Given the description of an element on the screen output the (x, y) to click on. 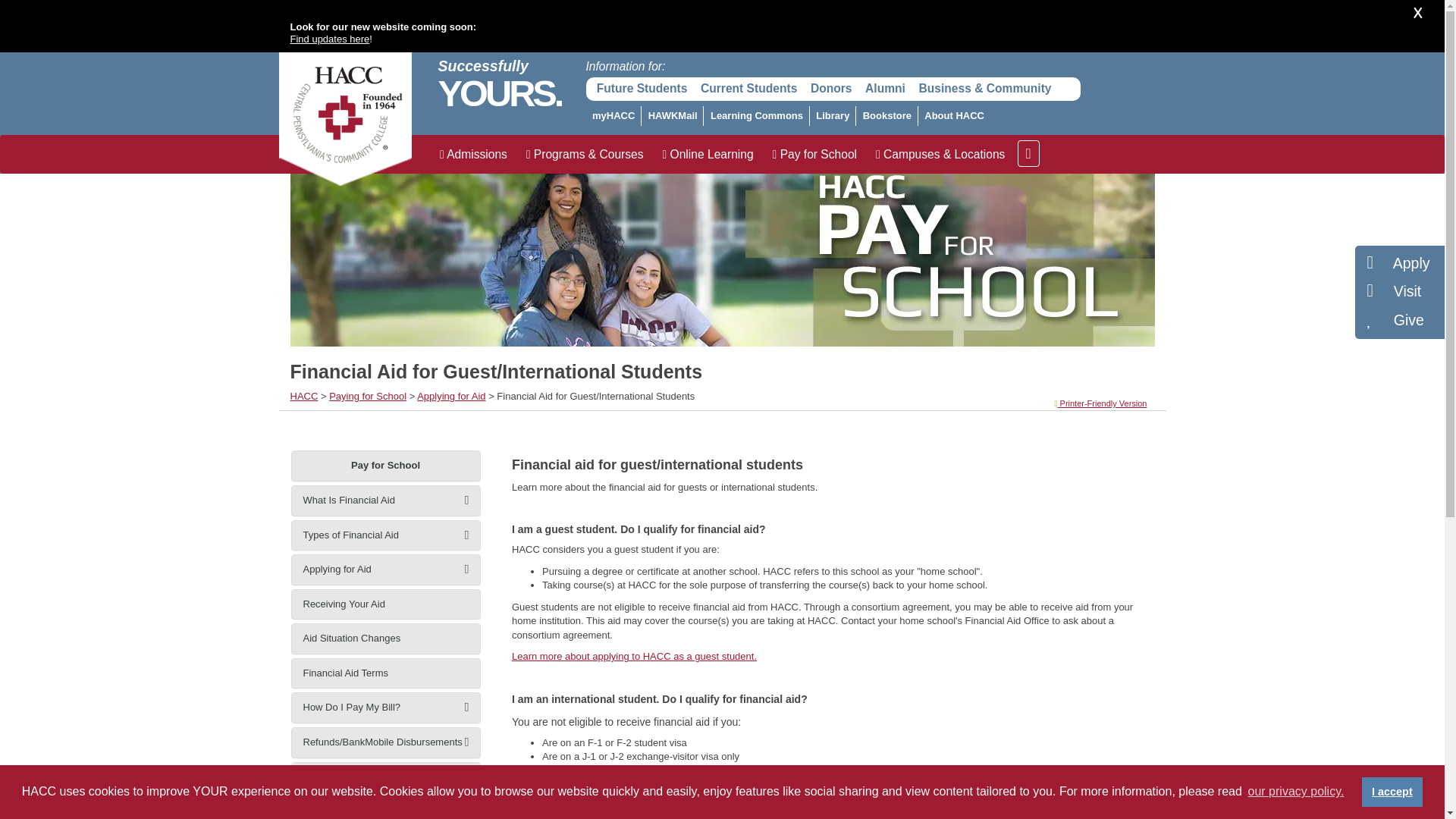
our privacy policy. (1294, 791)
Bookstore (886, 116)
Visit (1394, 290)
HAWKMail (672, 116)
About HACC (955, 116)
Current Students (748, 88)
Give (1395, 320)
Learning Commons (756, 116)
Donors (831, 88)
Apply (1398, 262)
